Given the description of an element on the screen output the (x, y) to click on. 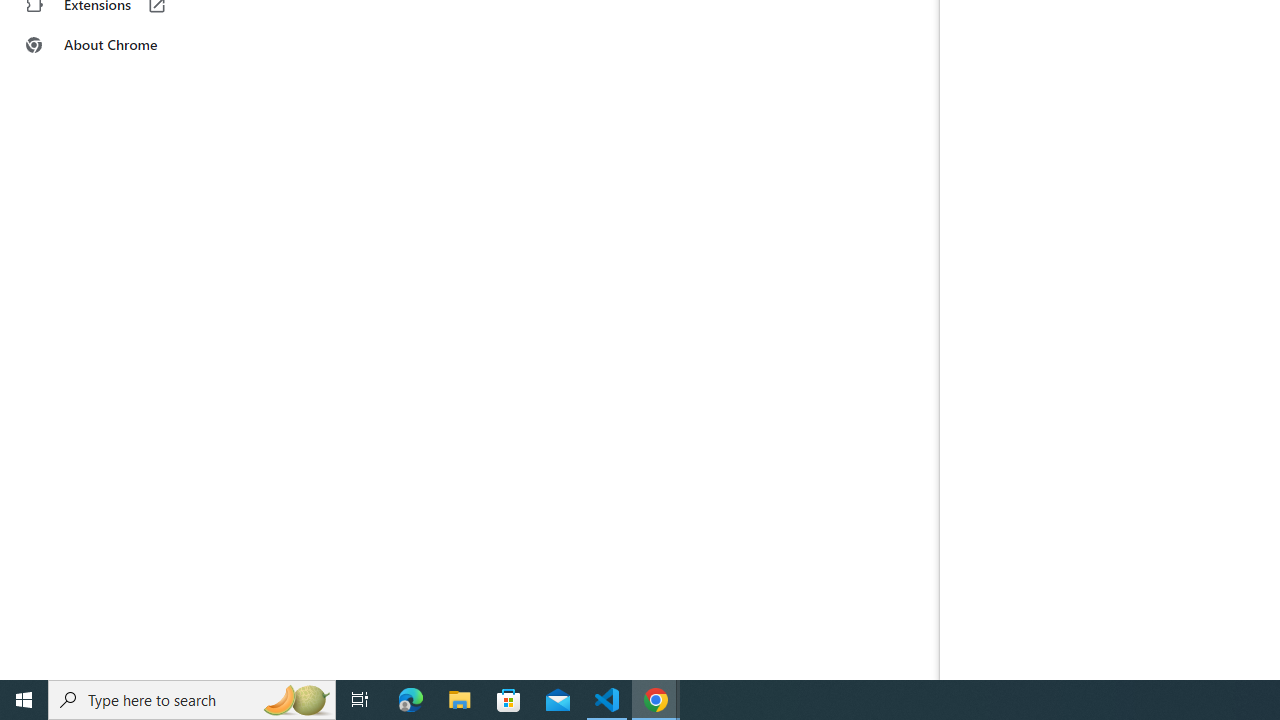
Start (24, 699)
Visual Studio Code - 1 running window (607, 699)
About Chrome (124, 44)
Google Chrome - 2 running windows (656, 699)
File Explorer (460, 699)
Task View (359, 699)
Type here to search (191, 699)
Microsoft Edge (411, 699)
Search highlights icon opens search home window (295, 699)
Microsoft Store (509, 699)
